Given the description of an element on the screen output the (x, y) to click on. 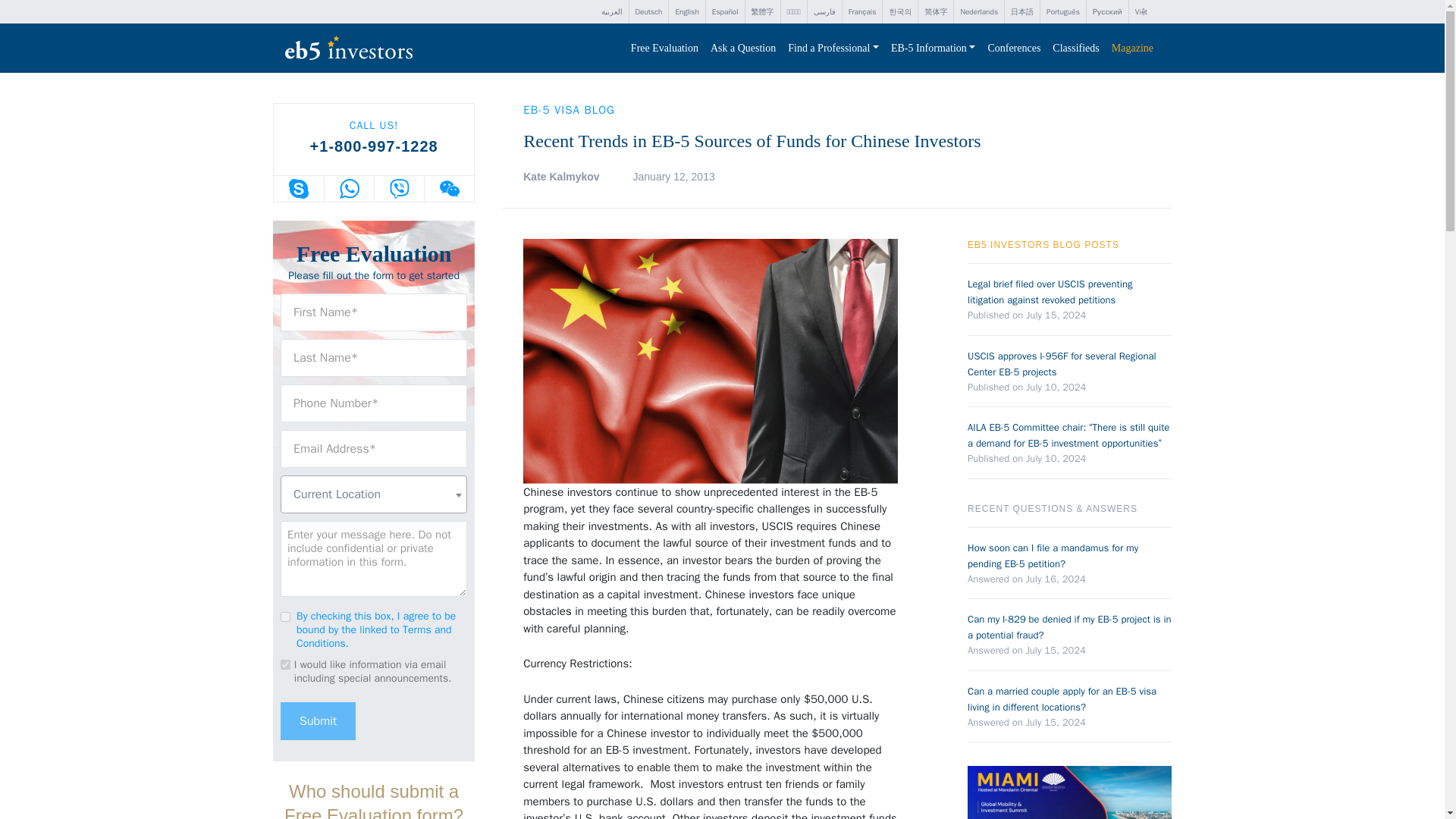
EB-5 Information (933, 48)
Free Evaluation (664, 48)
Free Evaluation (664, 48)
Deutsch (648, 11)
Ask a Question (742, 48)
Find a Professional (833, 48)
1 (285, 616)
Submit (318, 720)
Find a Professional (833, 48)
Nederlands (978, 11)
Ask a Question (742, 48)
English (686, 11)
